Given the description of an element on the screen output the (x, y) to click on. 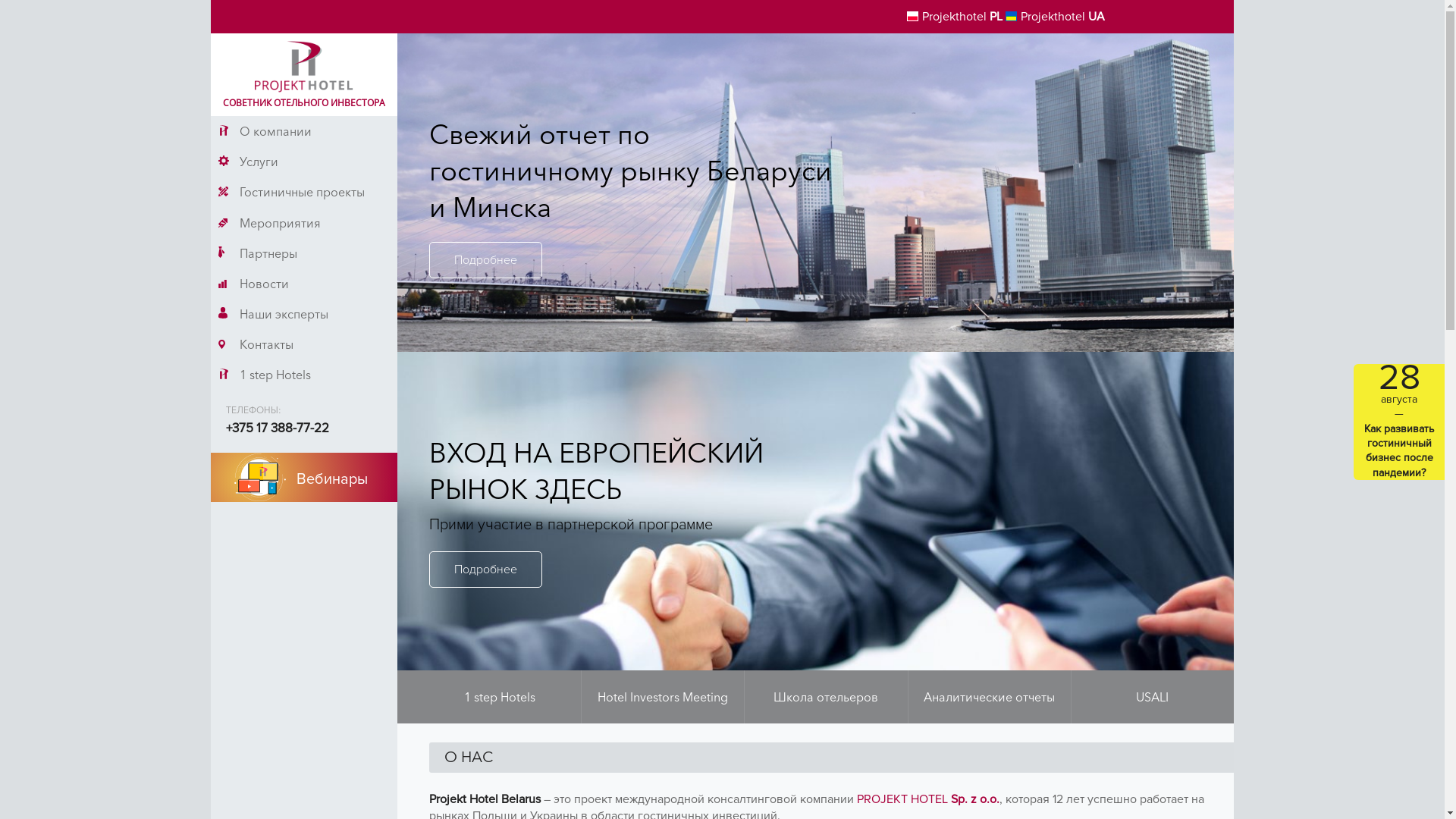
+375 17 388-77-22 Element type: text (277, 428)
1 step Hotels Element type: text (498, 696)
PROJEKT HOTEL Sp. z o.o. Element type: text (927, 798)
1 step Hotels Element type: text (303, 374)
USALI Element type: text (1152, 696)
Hotel Investors Meeting Element type: text (662, 696)
Projekthotel PL Element type: text (954, 16)
Projekthotel UA Element type: text (1054, 16)
